Given the description of an element on the screen output the (x, y) to click on. 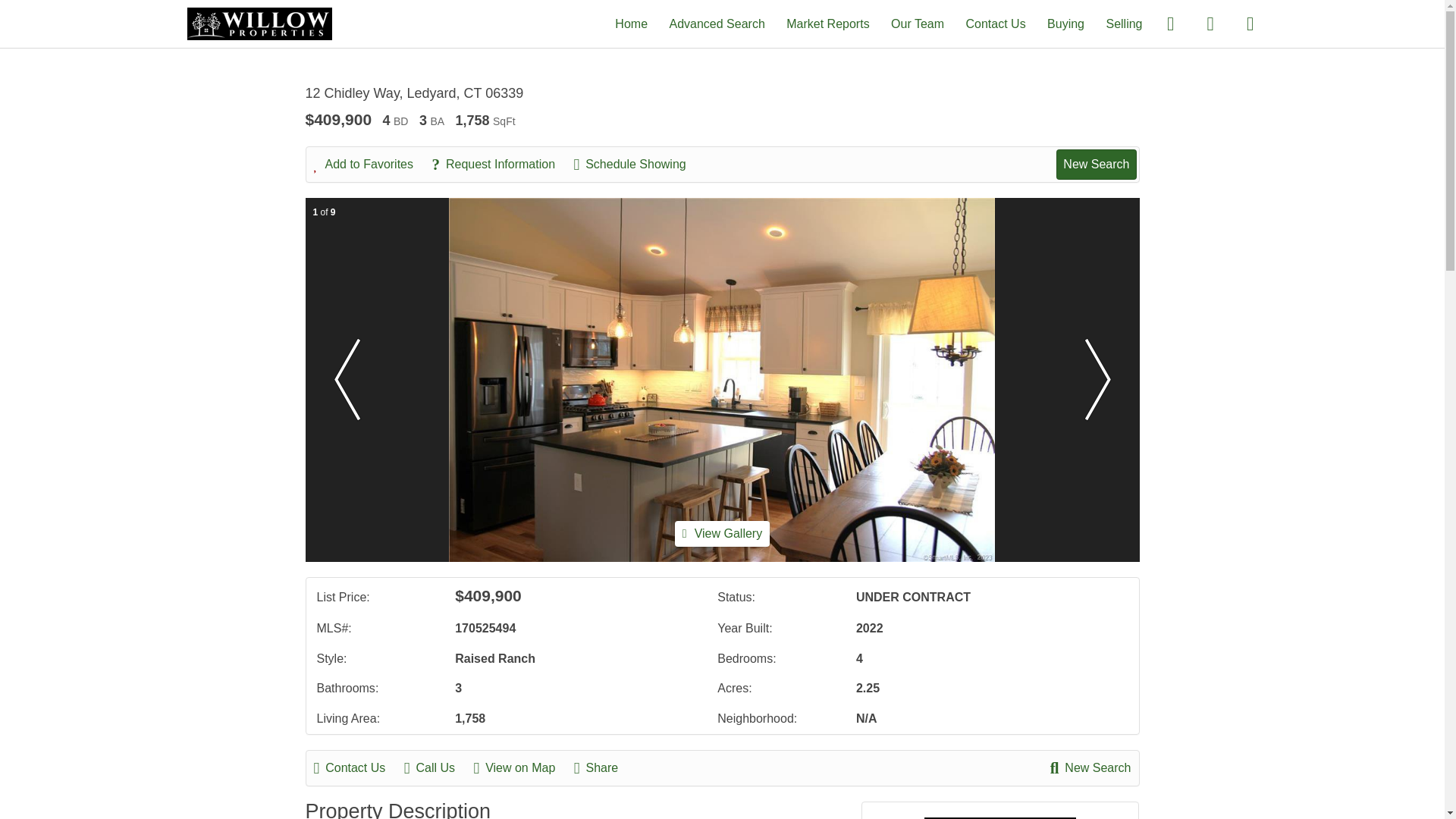
New Search (1090, 767)
Contact Us (996, 23)
Advanced Search (716, 23)
Market Reports (827, 23)
Our Team (917, 23)
Buying (1065, 23)
Share (603, 767)
Add to Favorites (371, 164)
Request Information (500, 164)
View on Map (521, 767)
Schedule Showing (636, 164)
Call Us (437, 767)
Home (630, 23)
View Gallery (722, 533)
View Gallery (722, 533)
